Given the description of an element on the screen output the (x, y) to click on. 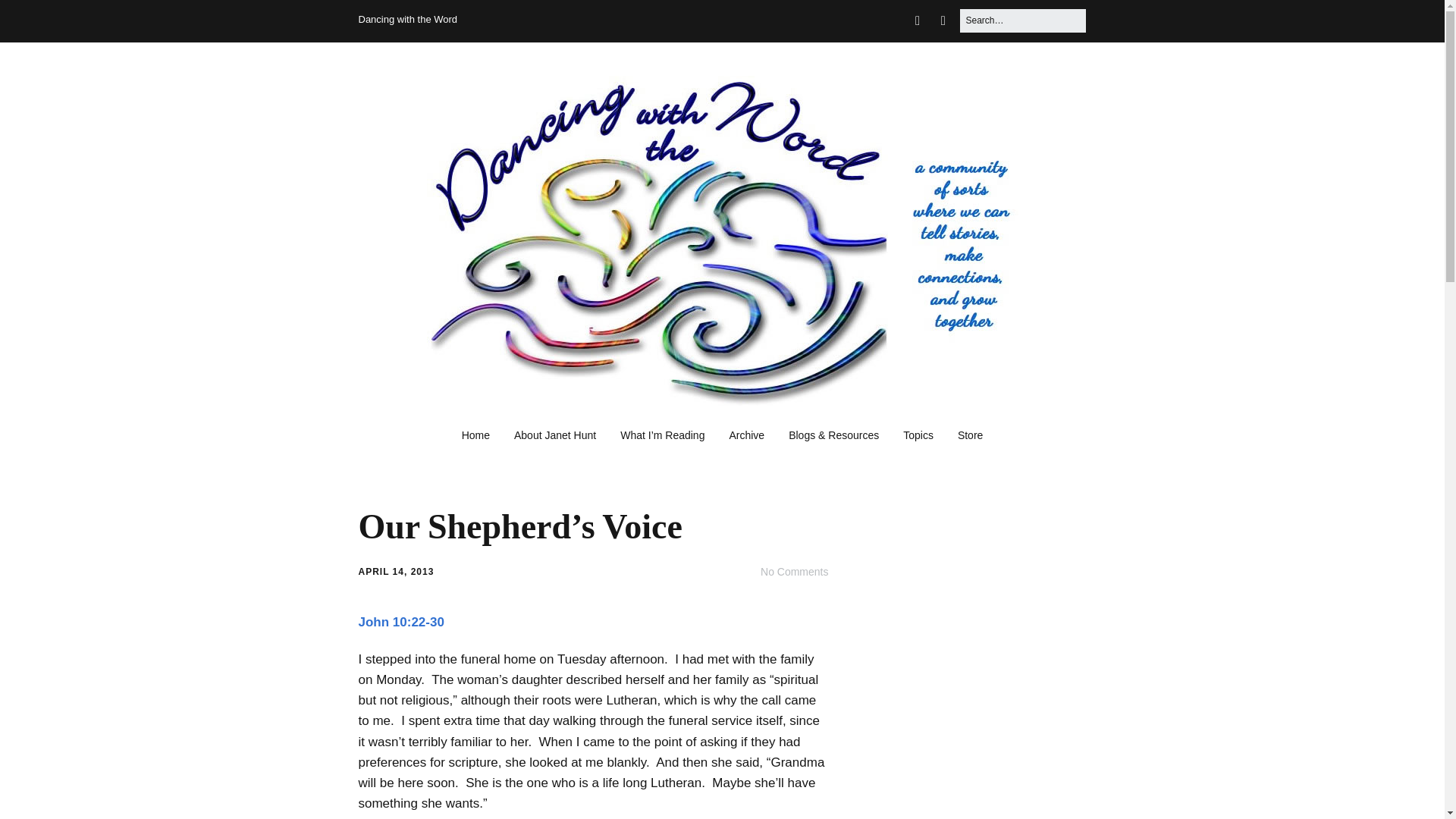
Search (29, 16)
About Janet Hunt (555, 436)
Archive (746, 436)
Press Enter to submit your search (1022, 20)
Home (475, 436)
Topics (917, 436)
No Comments (794, 571)
John 10:22-30 (401, 622)
Store (969, 436)
